Given the description of an element on the screen output the (x, y) to click on. 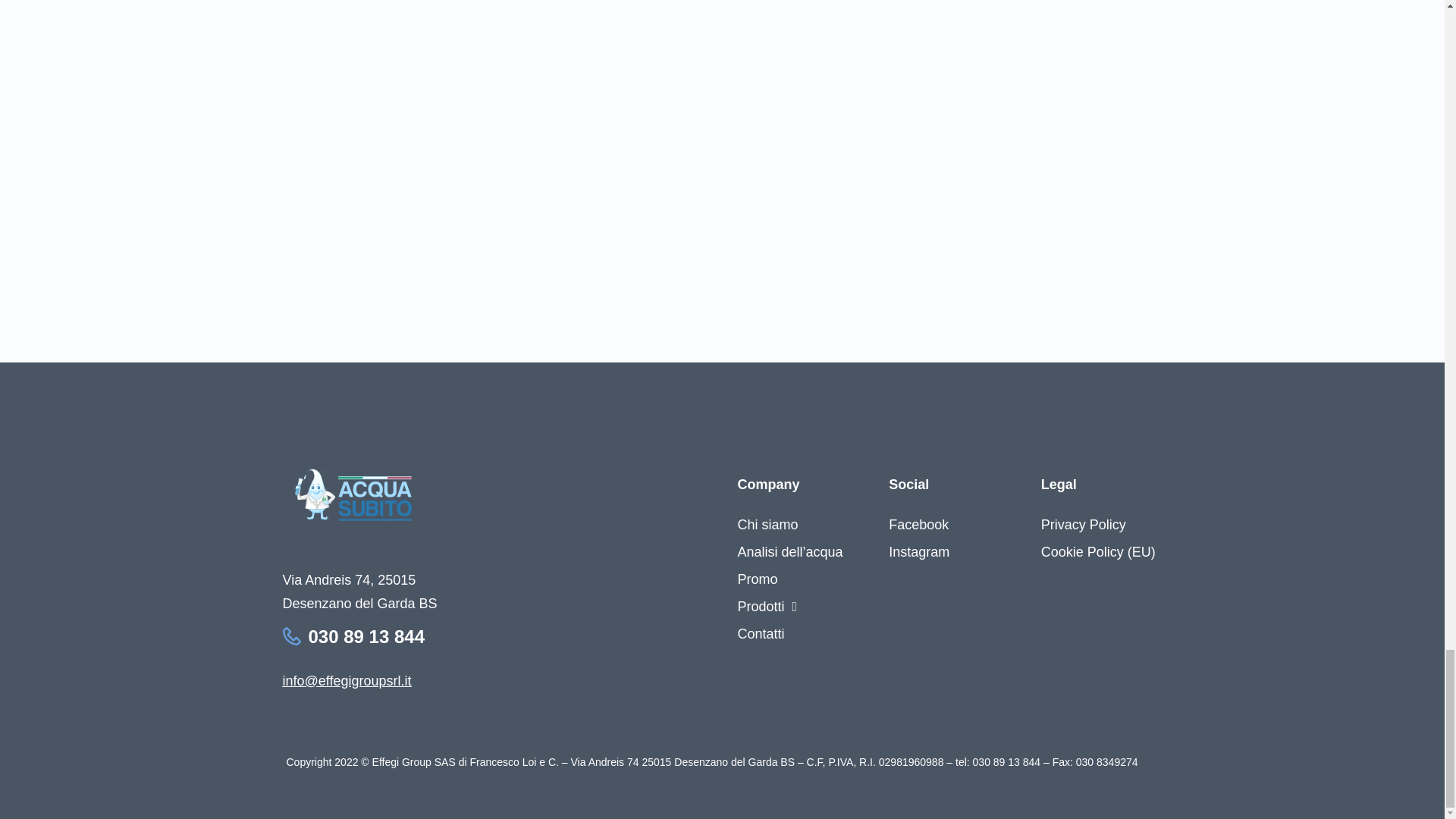
Contatti (789, 633)
Instagram (918, 551)
Chi siamo (789, 524)
Promo (789, 578)
Privacy Policy (1098, 524)
Facebook (918, 524)
030 89 13 844 (365, 636)
Prodotti (789, 605)
